Given the description of an element on the screen output the (x, y) to click on. 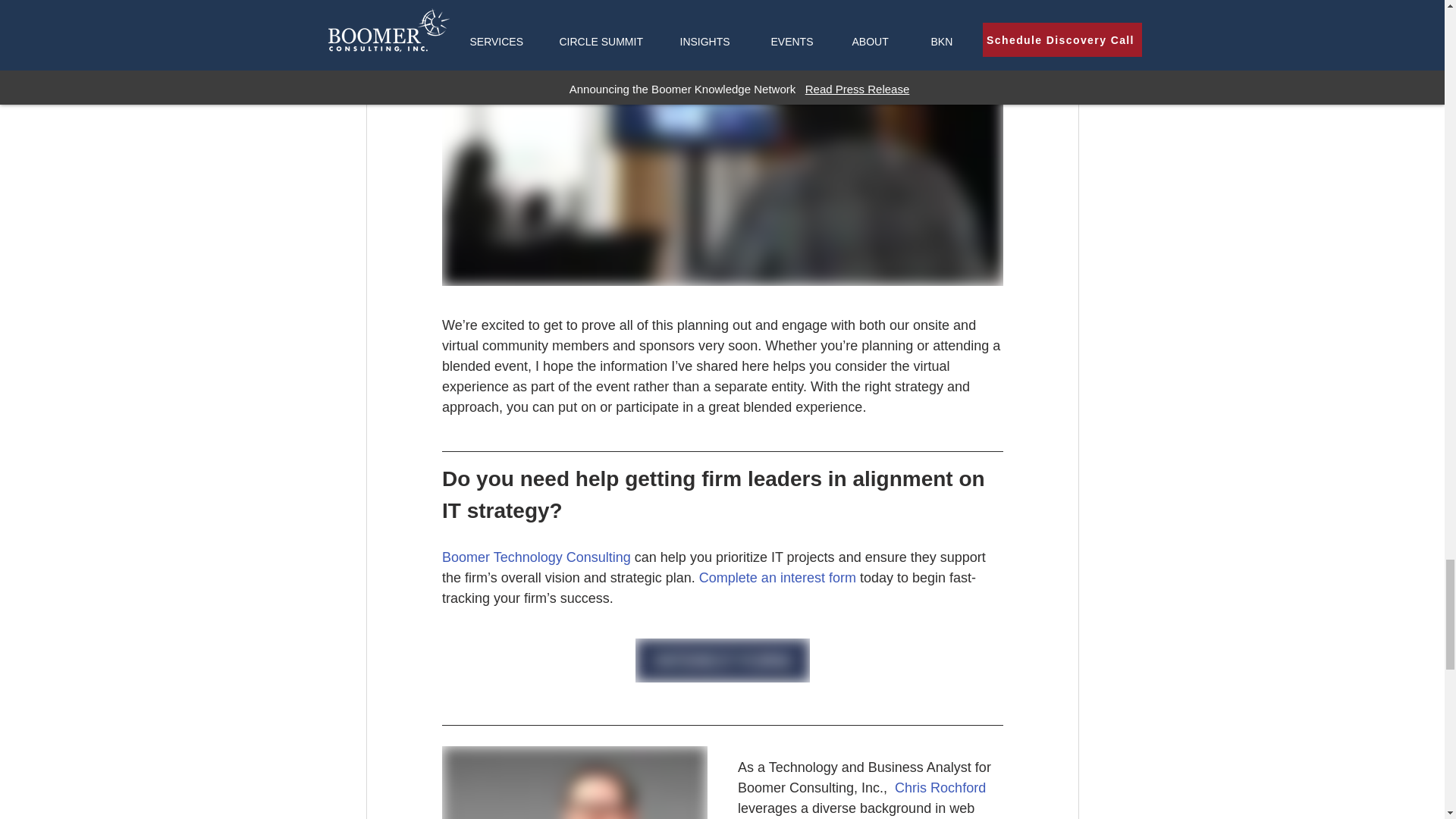
Boomer Technology Consulting (535, 557)
Complete an interest form (777, 577)
